Given the description of an element on the screen output the (x, y) to click on. 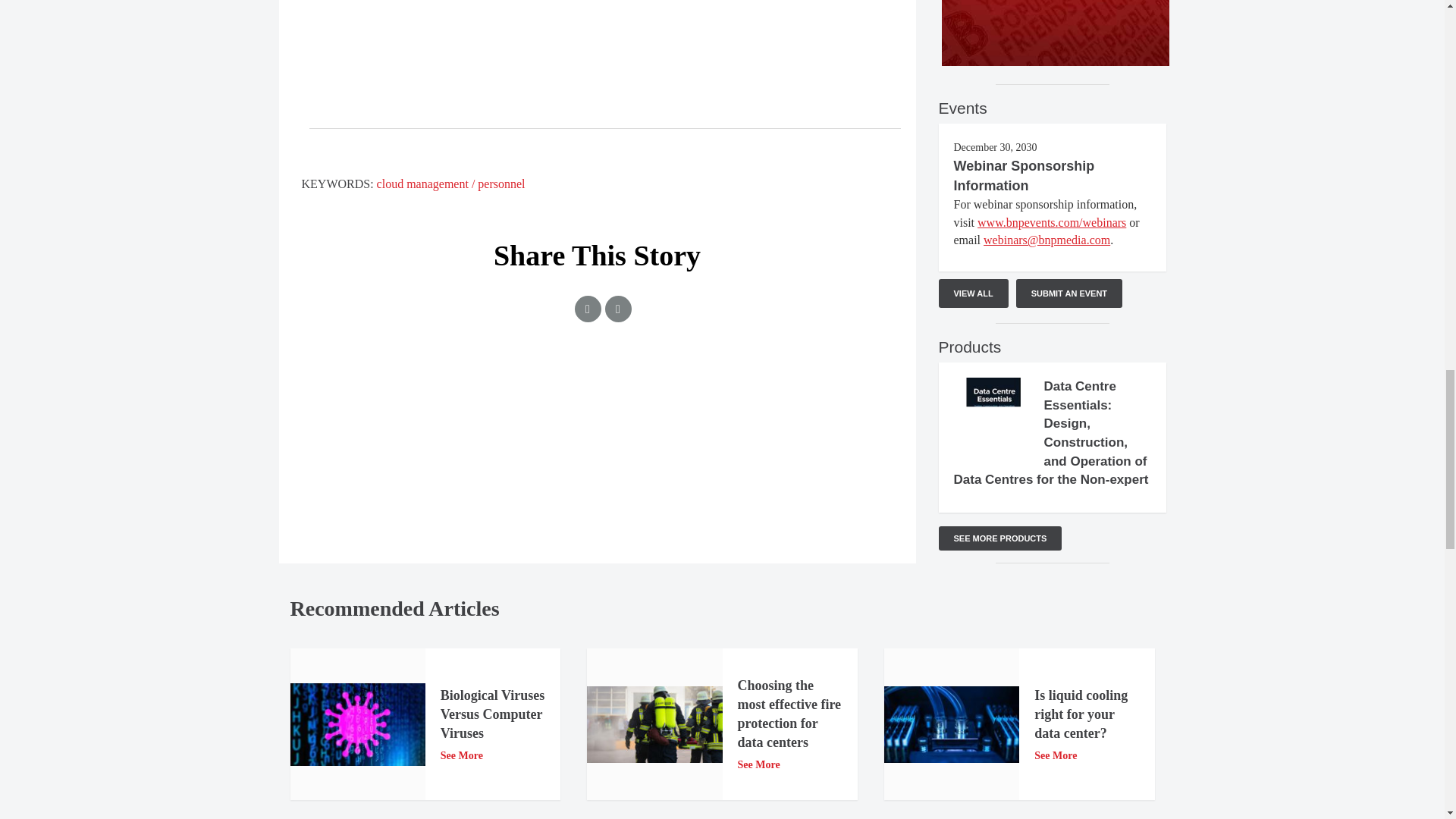
Webinar Sponsorship Information (1023, 175)
Fire suppression technologies (654, 724)
Virus main (357, 724)
Liquid cooling main image (951, 724)
